Given the description of an element on the screen output the (x, y) to click on. 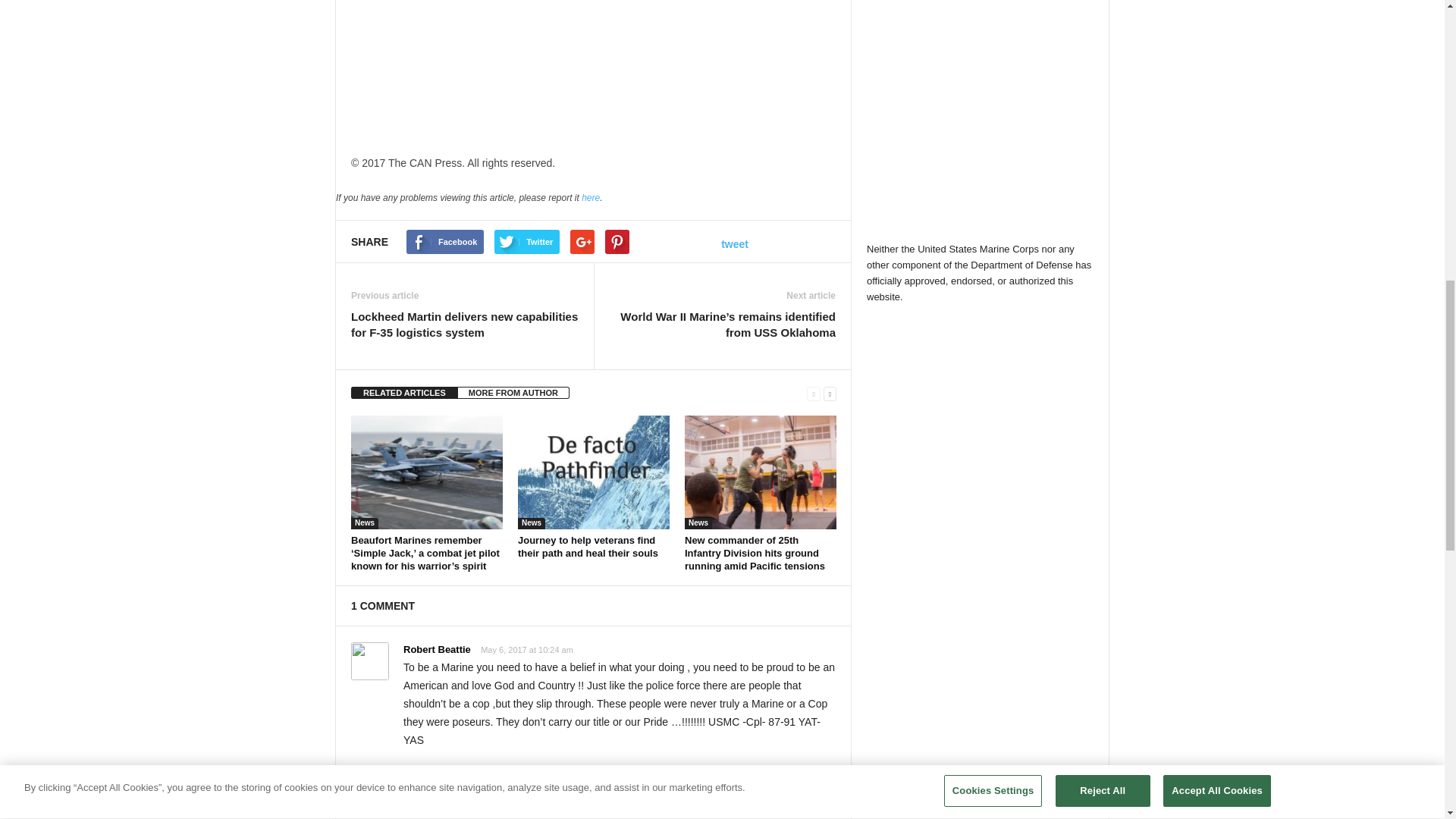
here (589, 197)
Facebook (444, 241)
